Given the description of an element on the screen output the (x, y) to click on. 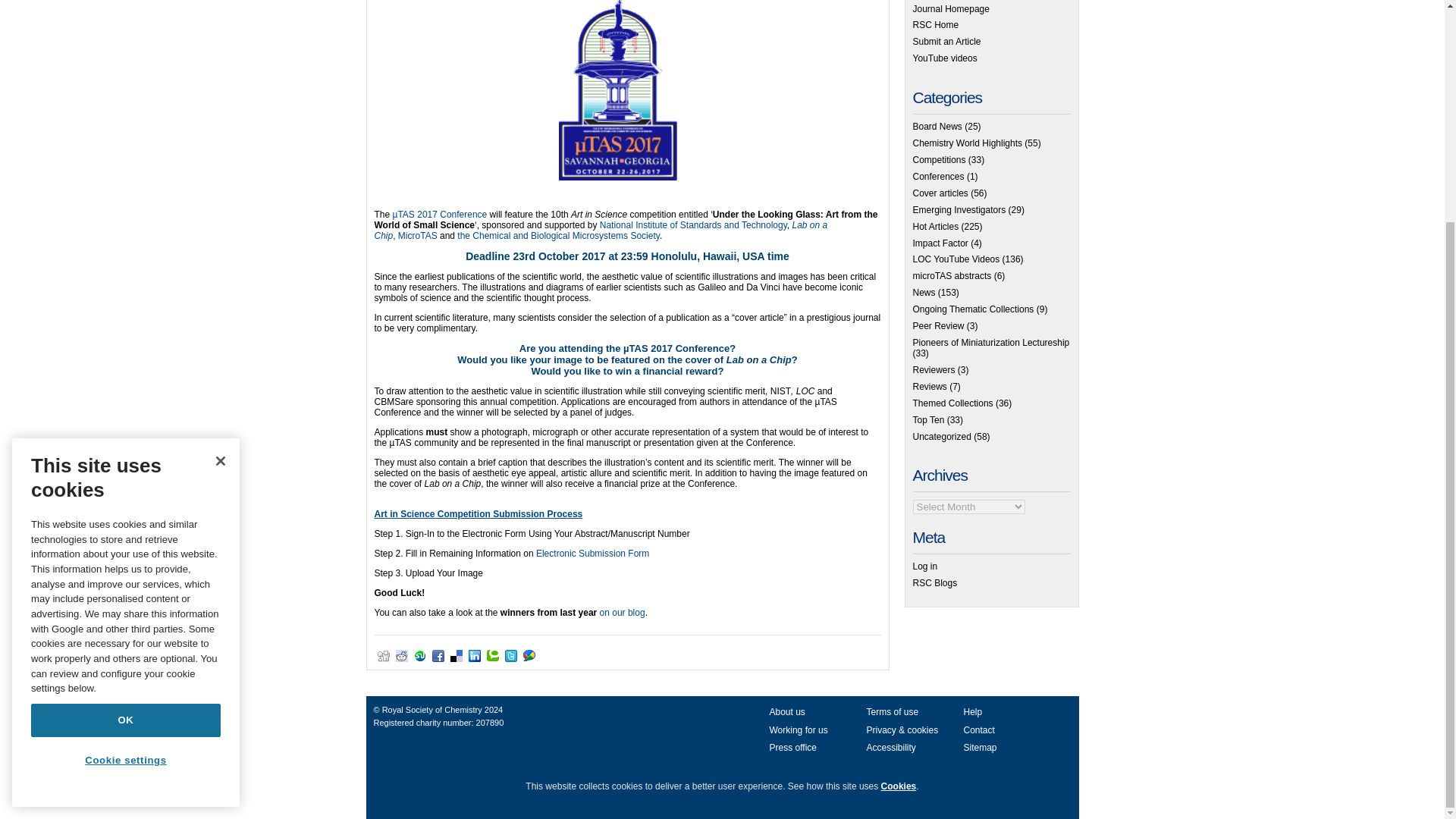
Digg This (383, 655)
Bookmark this on Technorati (492, 655)
Lab on a Chip (601, 230)
MicroTAS (417, 235)
Share on LinkedIn (474, 655)
Bookmark this on Delicious (456, 655)
Chemistry World Highlights (967, 143)
Electronic Submission Form (592, 552)
YouTube videos (944, 58)
Board News (937, 126)
